Given the description of an element on the screen output the (x, y) to click on. 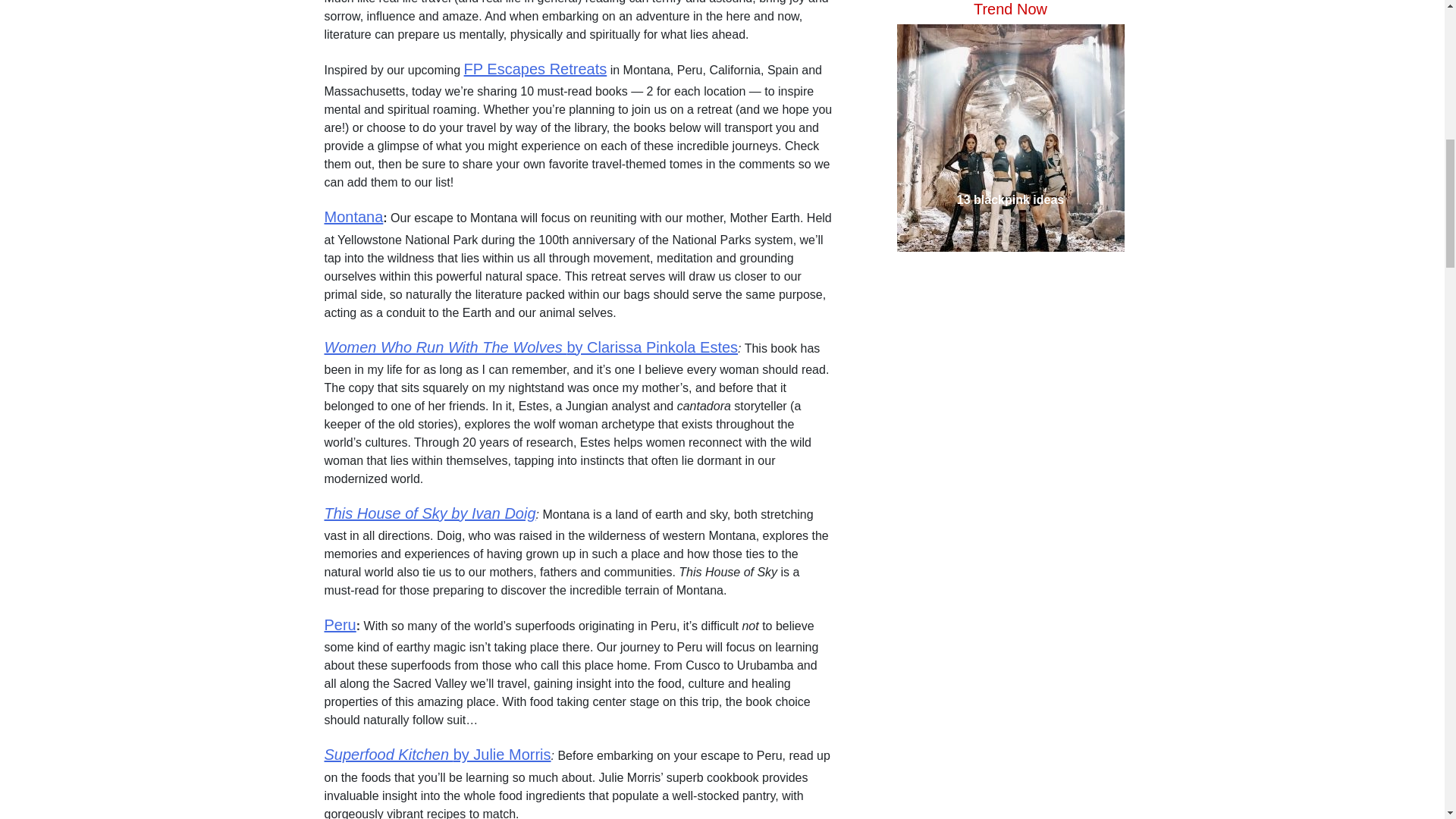
by Clarissa Pinkola Estes (652, 346)
FP Escapes Retreats (535, 68)
13 blackpink ideas (1009, 24)
13 blackpink ideas (1009, 38)
Superfood Kitchen by Julie Morris (437, 754)
Peru (340, 624)
13 blackpink ideas (1009, 24)
Montana (354, 216)
Women Who Run With The Wolves (445, 346)
This House of Sky by Ivan Doig (429, 513)
